Given the description of an element on the screen output the (x, y) to click on. 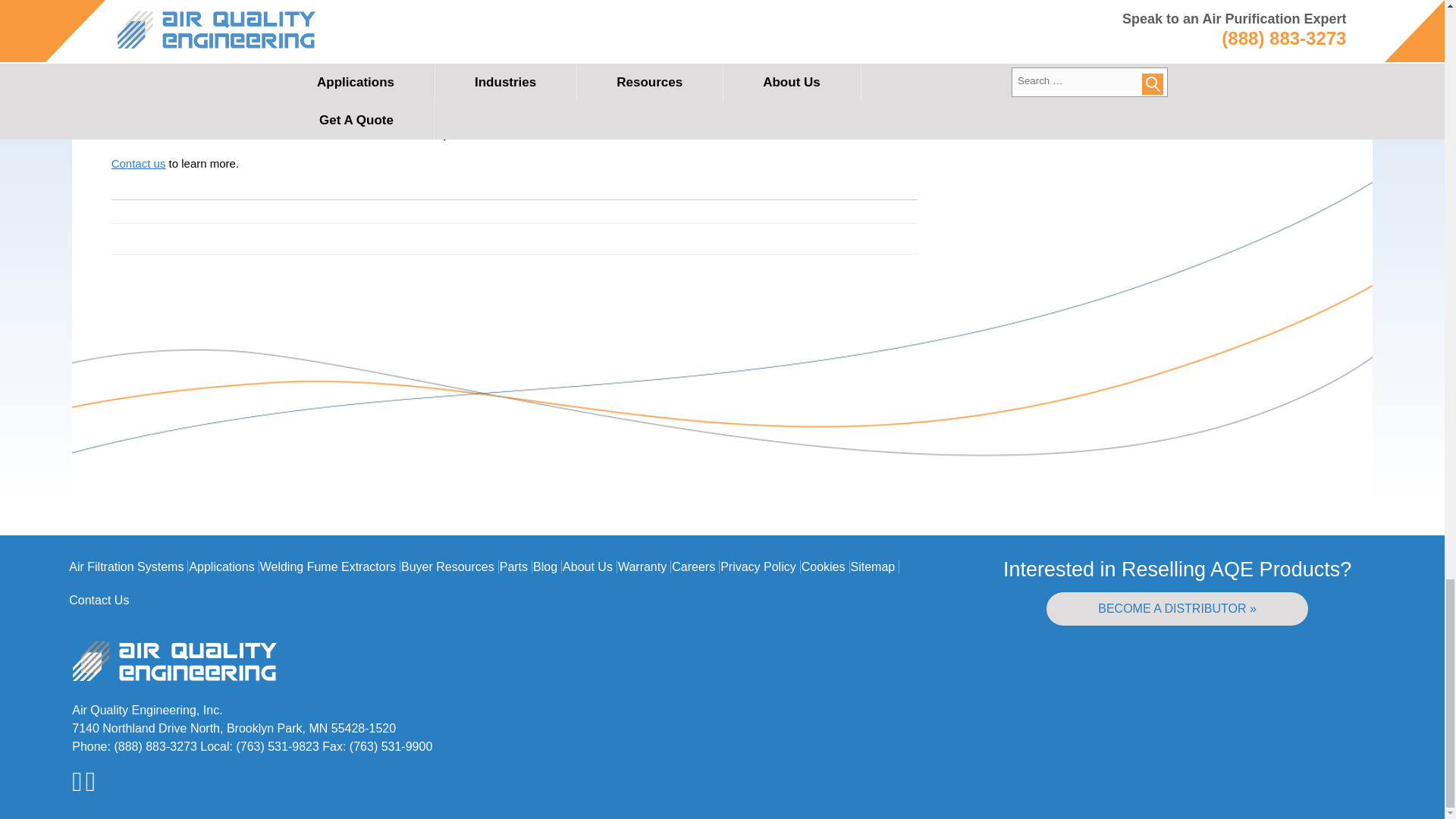
Facebook logo (90, 781)
Facebook logo (90, 786)
LinkedIn logo (76, 781)
LinkedIn logo (78, 786)
